Given the description of an element on the screen output the (x, y) to click on. 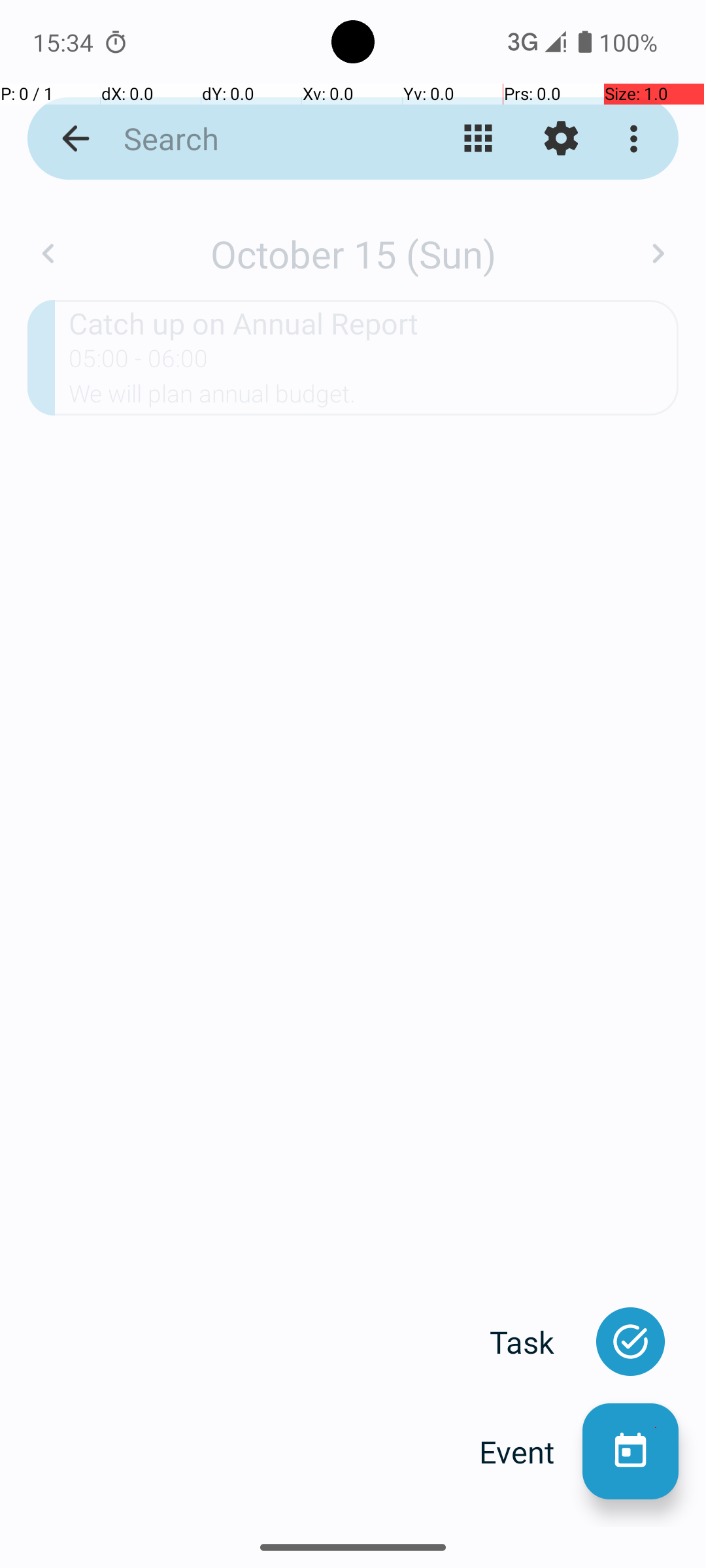
Task Element type: android.widget.TextView (535, 1341)
Event Element type: android.widget.TextView (530, 1451)
October 15 (Sun) Element type: android.widget.TextView (352, 253)
Catch up on Annual Report Element type: android.widget.TextView (373, 321)
05:00 - 06:00 Element type: android.widget.TextView (137, 362)
We will plan annual budget. Element type: android.widget.TextView (373, 397)
